Given the description of an element on the screen output the (x, y) to click on. 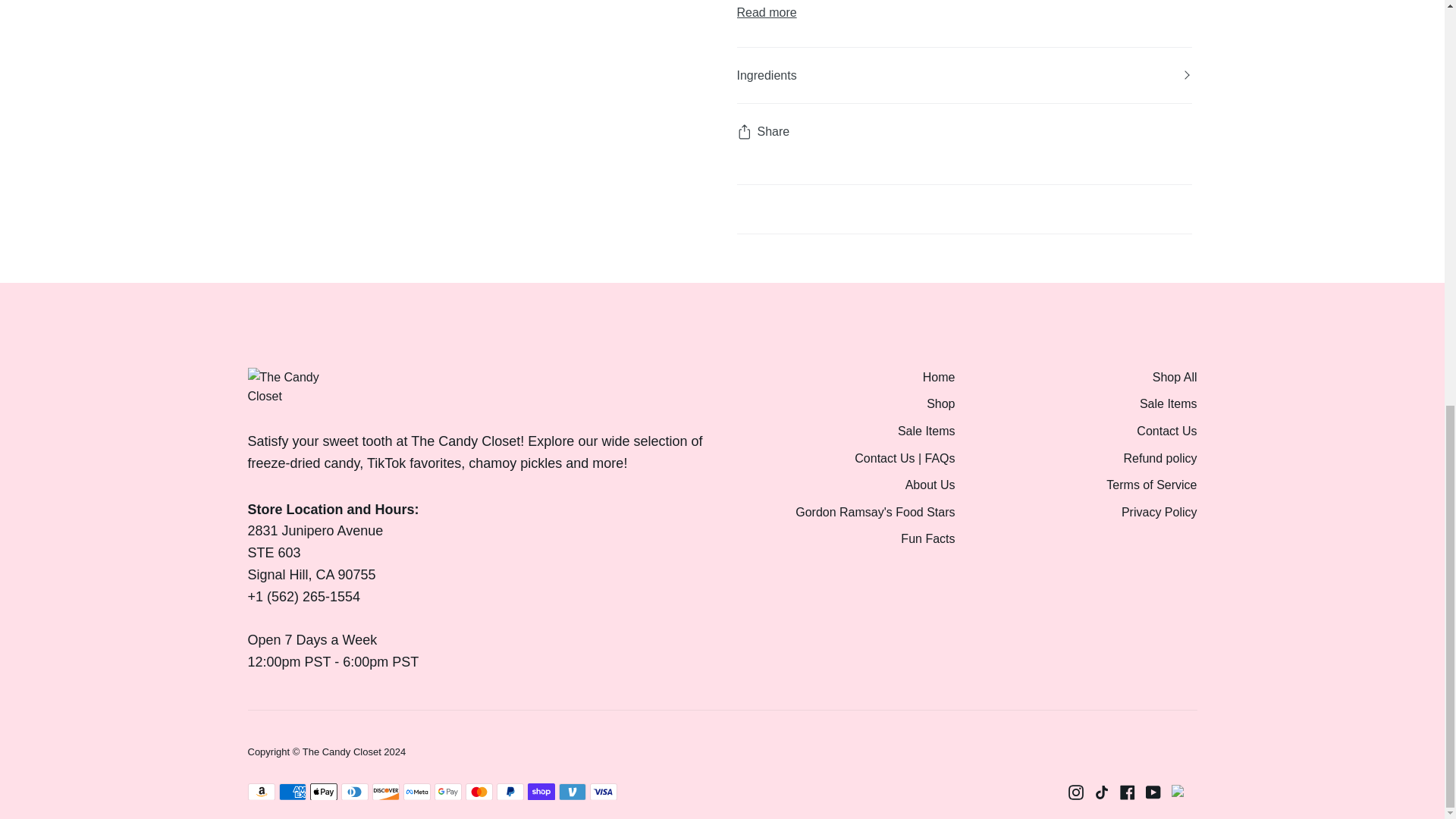
The Candy Closet on Instagram (1075, 792)
The Candy Closet on Facebook (1126, 792)
The Candy Closet on YouTube (1152, 792)
The Candy Closet on TikTok (1100, 792)
